Given the description of an element on the screen output the (x, y) to click on. 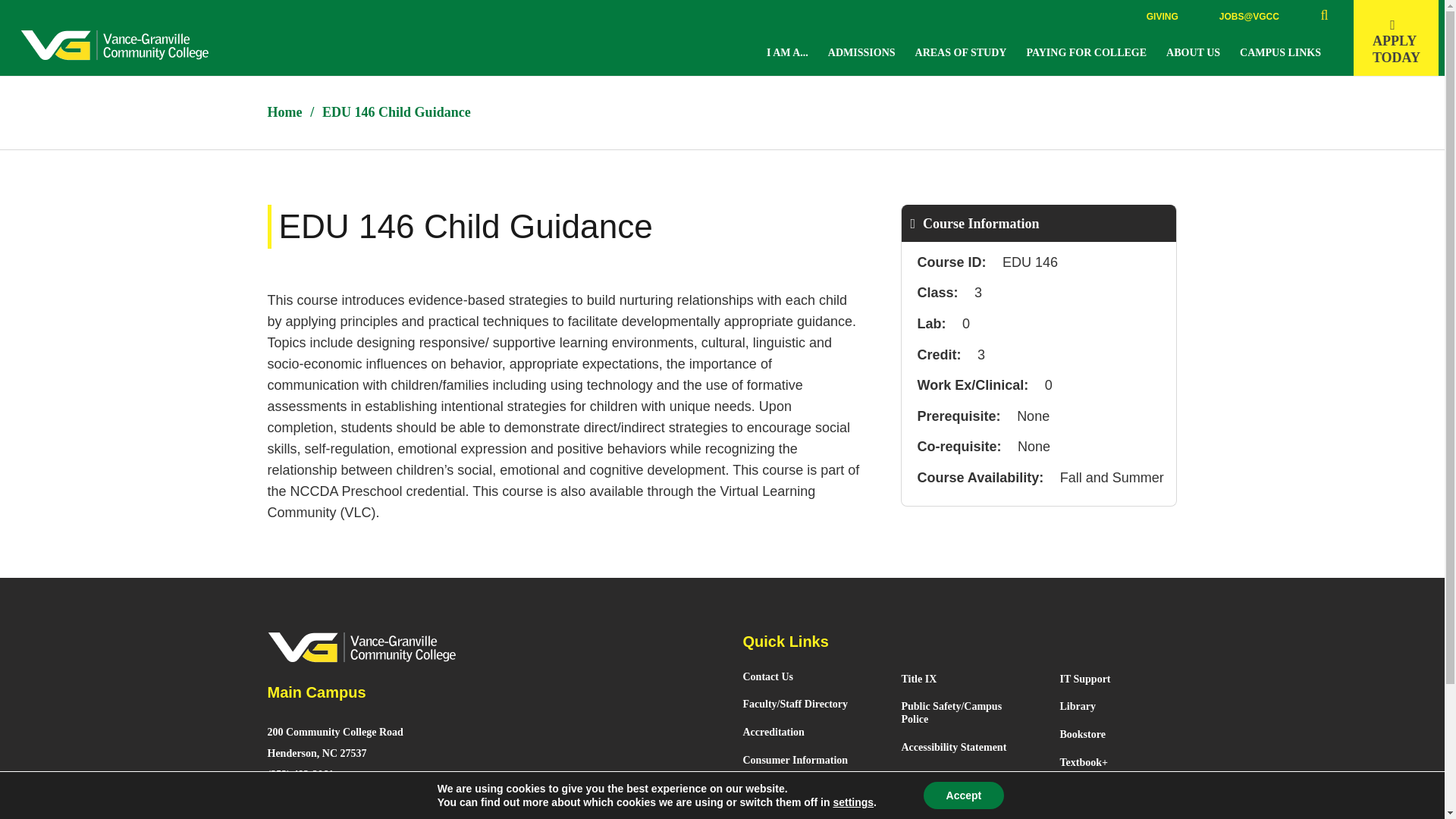
ADMISSIONS (864, 52)
GIVING (1162, 16)
ABOUT US (1194, 52)
I AM A... (1396, 38)
AREAS OF STUDY (789, 52)
PAYING FOR COLLEGE (963, 52)
